Given the description of an element on the screen output the (x, y) to click on. 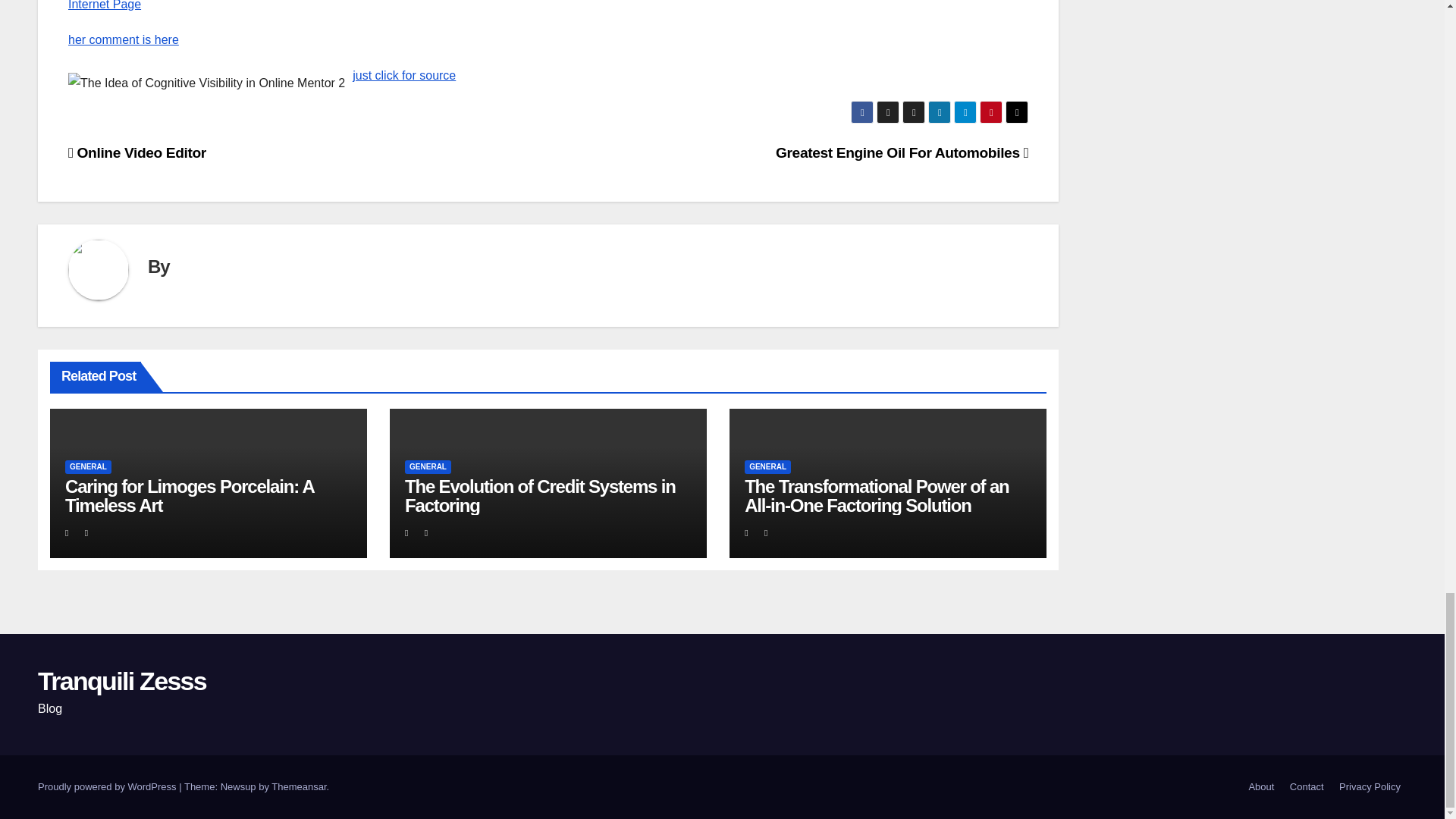
Permalink to: Caring for Limoges Porcelain: A Timeless Art (189, 495)
Privacy Policy (1369, 786)
her comment is here (123, 39)
Permalink to: The Evolution of Credit Systems in Factoring (539, 495)
Greatest Engine Oil For Automobiles (901, 152)
Caring for Limoges Porcelain: A Timeless Art (189, 495)
just click for source (403, 74)
The Evolution of Credit Systems in Factoring (539, 495)
Internet Page (104, 5)
GENERAL (88, 467)
Contact (1307, 786)
Online Video Editor (137, 152)
About (1260, 786)
GENERAL (427, 467)
